Given the description of an element on the screen output the (x, y) to click on. 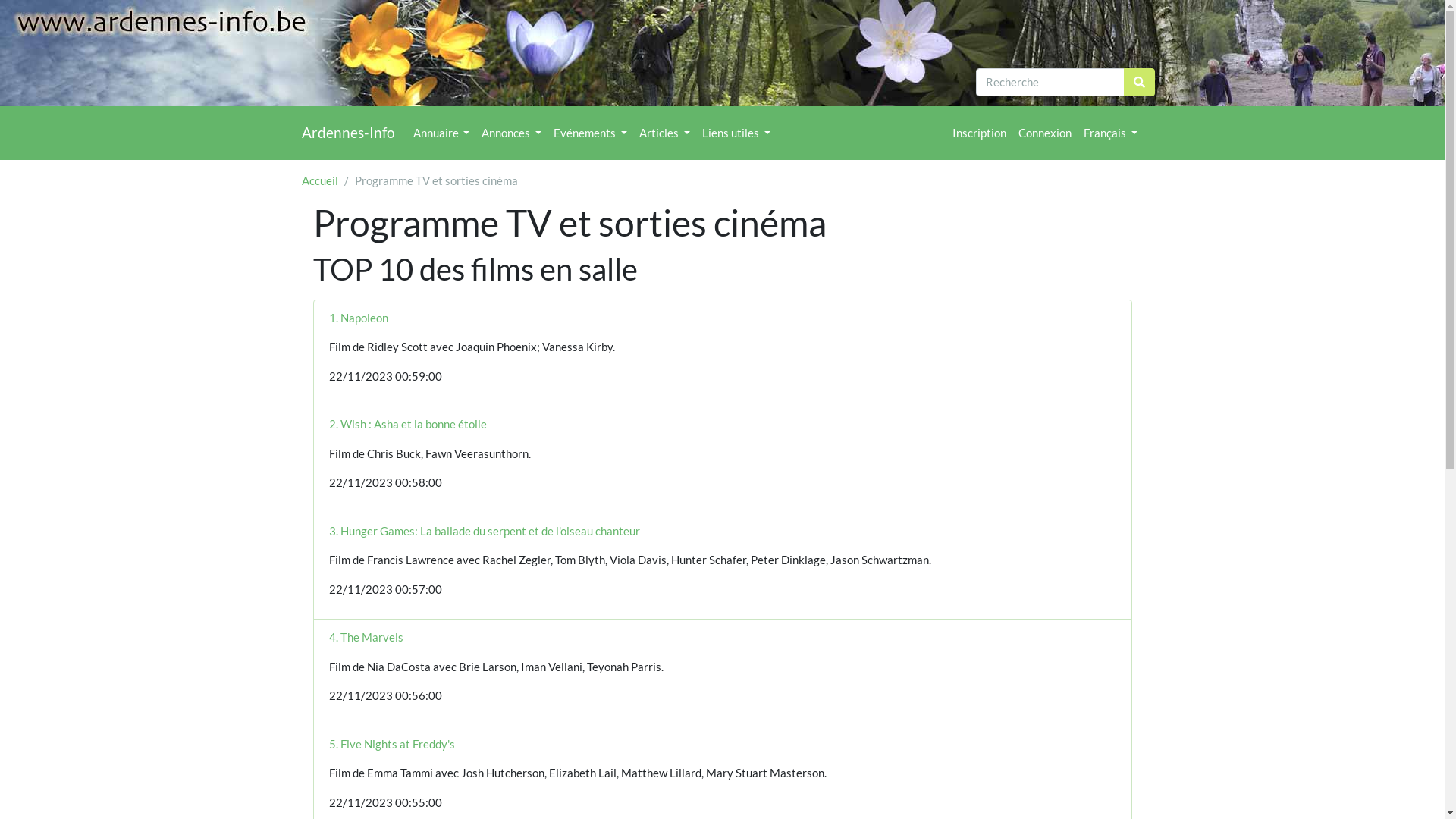
Annuaire Element type: text (440, 132)
Articles Element type: text (664, 132)
Ardennes-Info Element type: text (348, 132)
Connexion Element type: text (1044, 132)
Annonces Element type: text (511, 132)
4. The Marvels Element type: text (366, 636)
5. Five Nights at Freddy's Element type: text (392, 743)
1. Napoleon Element type: text (358, 317)
Accueil Element type: text (319, 179)
Liens utiles Element type: text (736, 132)
Inscription Element type: text (979, 132)
